Given the description of an element on the screen output the (x, y) to click on. 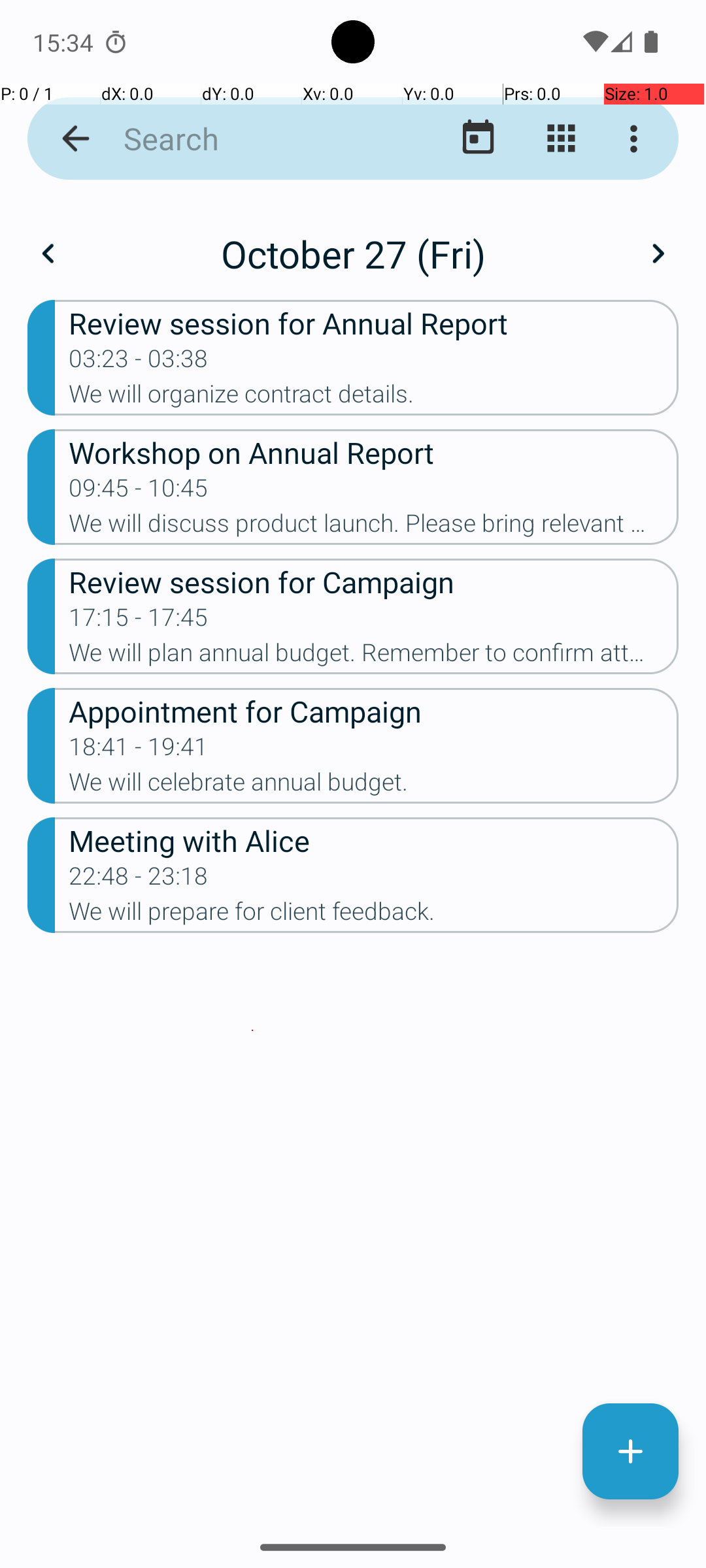
October 27 (Fri) Element type: android.widget.TextView (352, 253)
03:23 - 03:38 Element type: android.widget.TextView (137, 362)
We will organize contract details. Element type: android.widget.TextView (373, 397)
09:45 - 10:45 Element type: android.widget.TextView (137, 491)
We will discuss product launch. Please bring relevant documents. Element type: android.widget.TextView (373, 526)
17:15 - 17:45 Element type: android.widget.TextView (137, 620)
We will plan annual budget. Remember to confirm attendance. Element type: android.widget.TextView (373, 656)
18:41 - 19:41 Element type: android.widget.TextView (137, 750)
We will celebrate annual budget. Element type: android.widget.TextView (373, 785)
22:48 - 23:18 Element type: android.widget.TextView (137, 879)
We will prepare for client feedback. Element type: android.widget.TextView (373, 914)
